Given the description of an element on the screen output the (x, y) to click on. 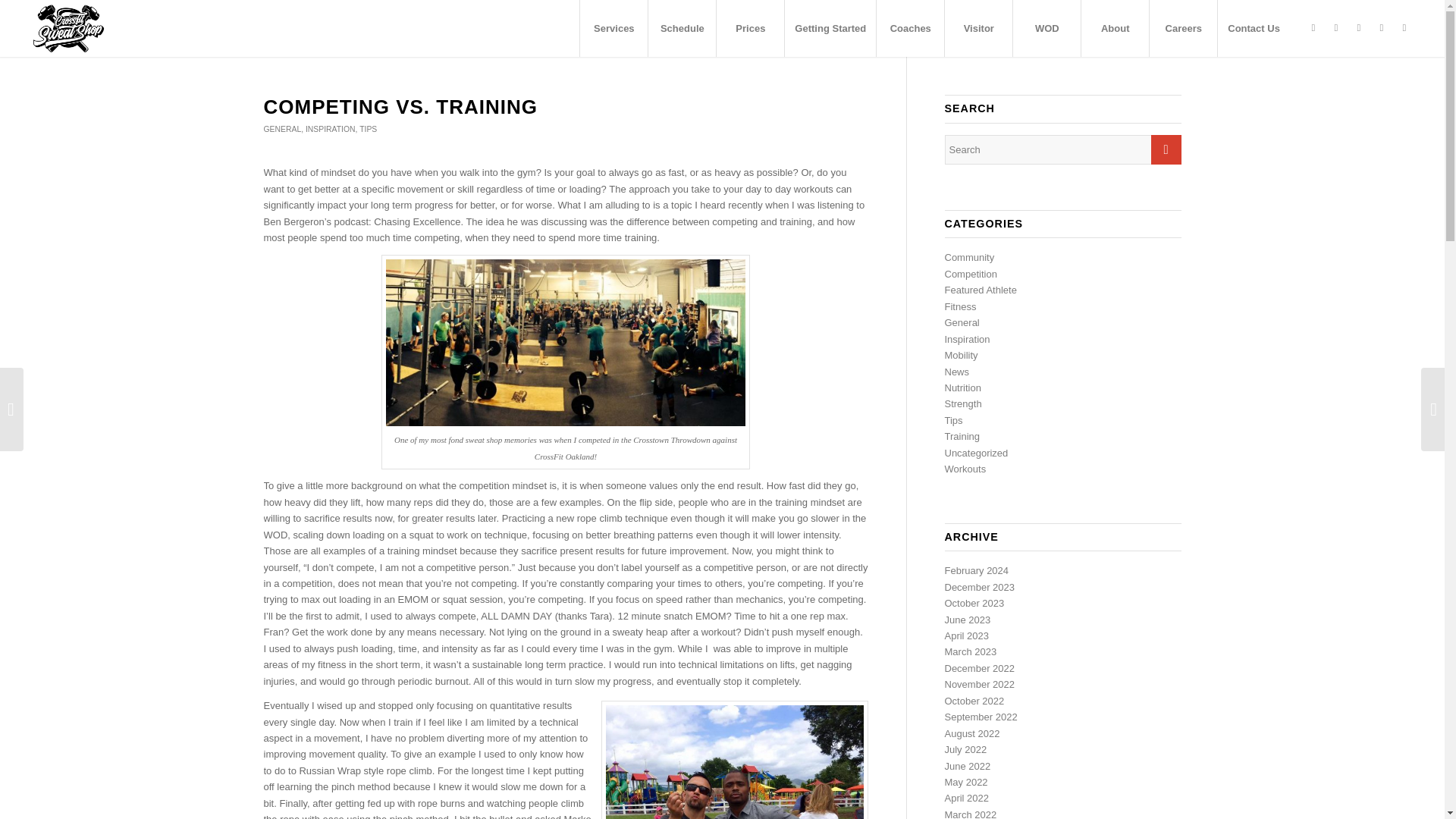
Mail (1404, 27)
CrossfitSweatShopLogo1 (68, 28)
Instagram (1359, 27)
About (1114, 28)
Getting Started (830, 28)
Careers (1182, 28)
WOD (1045, 28)
Facebook (1336, 27)
Prices (750, 28)
Coaches (909, 28)
Youtube (1312, 27)
TIPS (368, 129)
Contact Us (1253, 28)
INSPIRATION (330, 129)
Twitter (1381, 27)
